Given the description of an element on the screen output the (x, y) to click on. 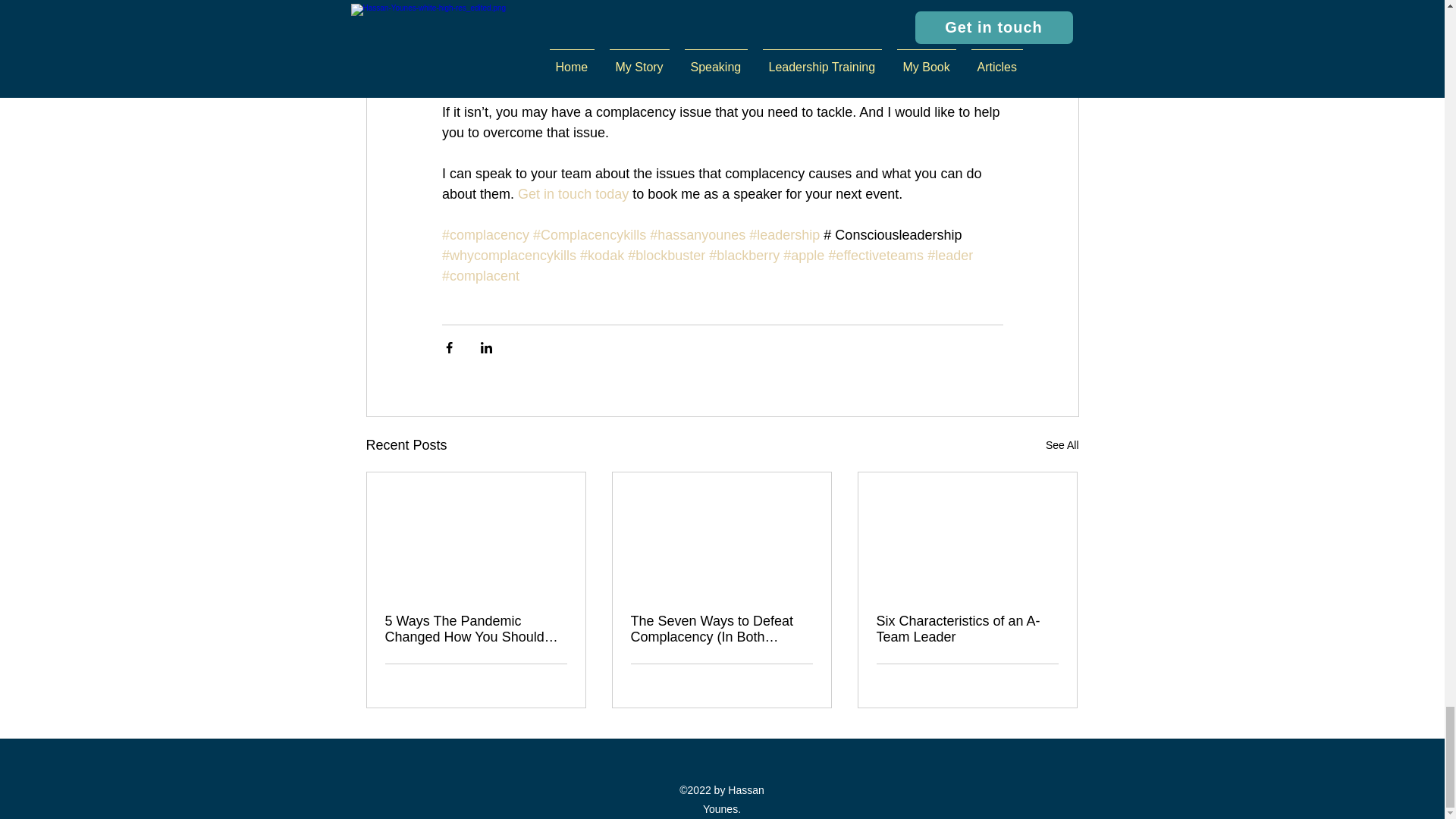
Get in touch today (573, 193)
See All (1061, 445)
